Given the description of an element on the screen output the (x, y) to click on. 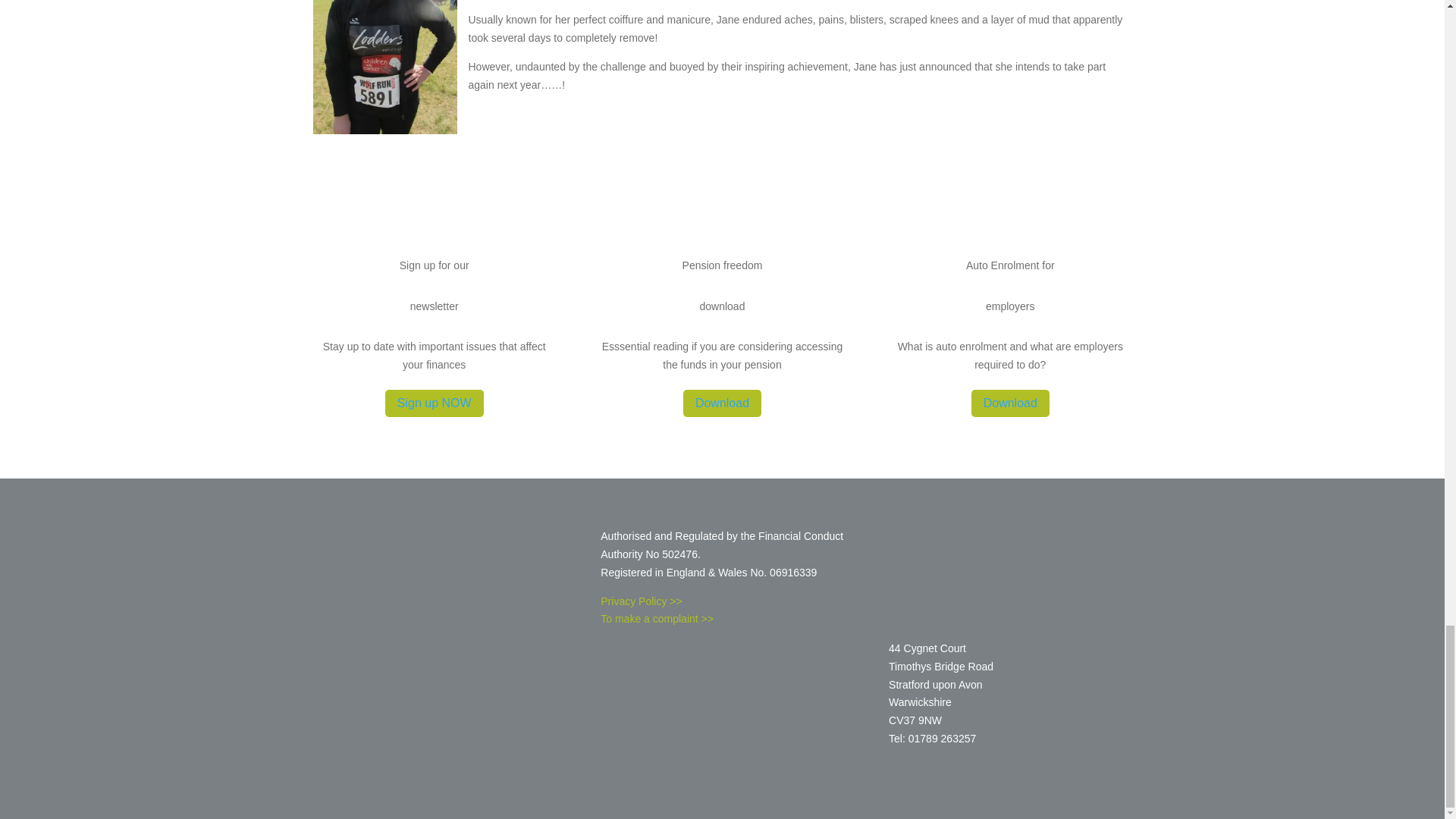
Sign up NOW (434, 403)
Download (1010, 403)
Download (721, 403)
